Given the description of an element on the screen output the (x, y) to click on. 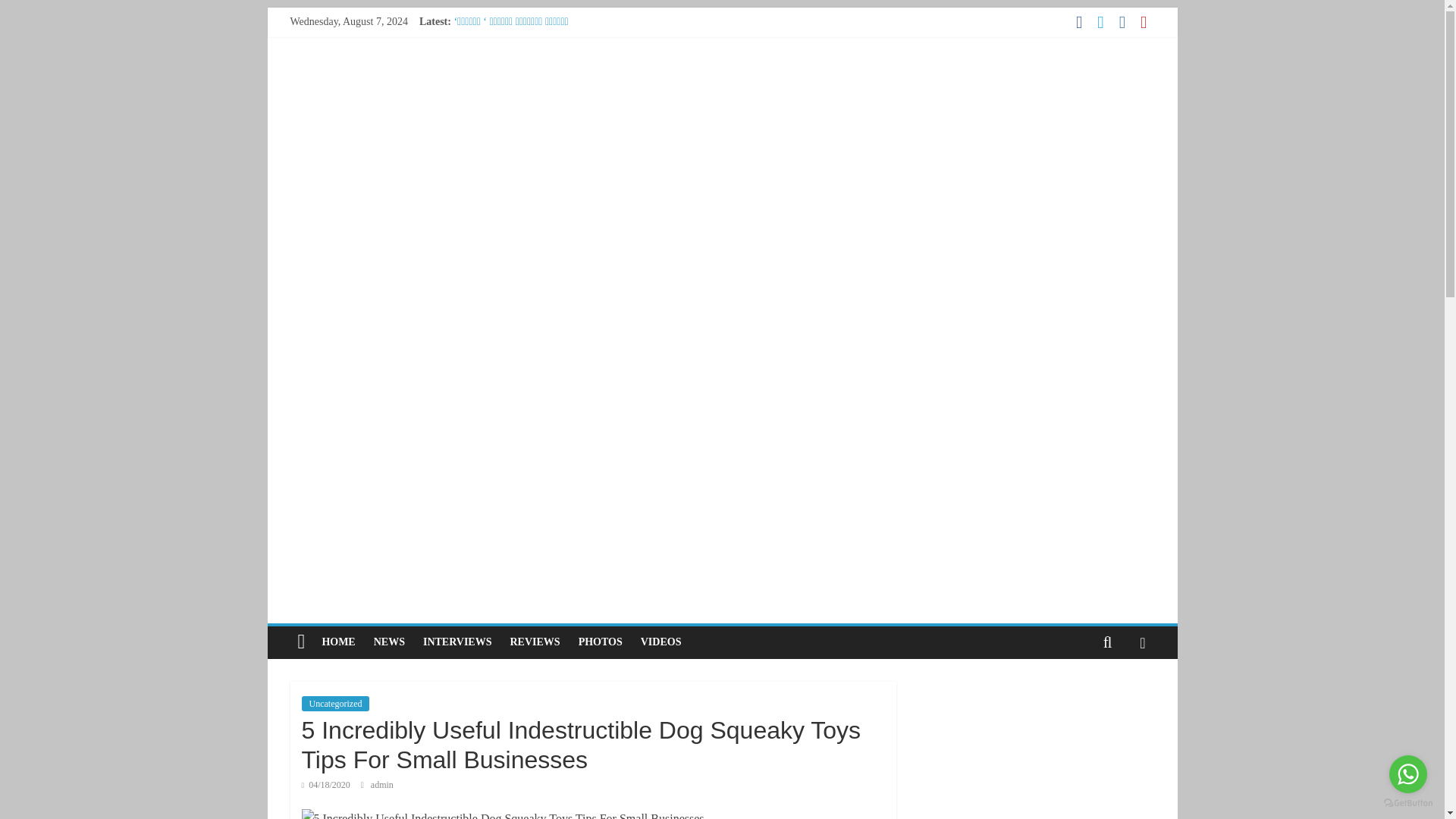
admin (382, 784)
REVIEWS (534, 642)
INTERVIEWS (456, 642)
NEWS (389, 642)
VIDEOS (660, 642)
HOME (338, 642)
PHOTOS (600, 642)
4:06 pm (325, 784)
Uncategorized (335, 703)
admin (382, 784)
